Given the description of an element on the screen output the (x, y) to click on. 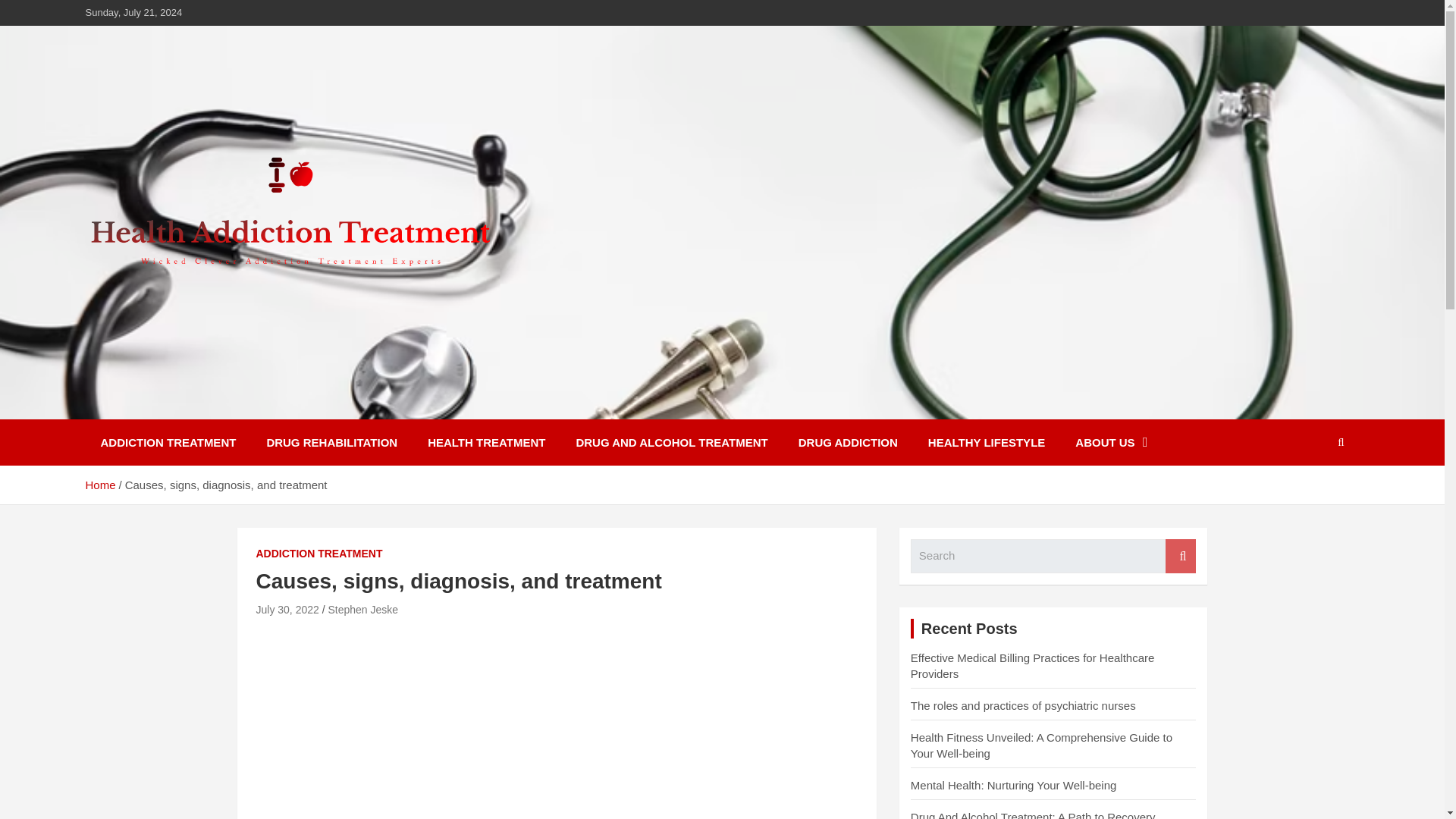
Home (99, 484)
ADDICTION TREATMENT (167, 442)
ADDICTION TREATMENT (319, 554)
HEALTH TREATMENT (486, 442)
HEALTHY LIFESTYLE (985, 442)
July 30, 2022 (287, 609)
Causes, signs, diagnosis, and treatment (287, 609)
DRUG AND ALCOHOL TREATMENT (671, 442)
Stephen Jeske (362, 609)
DRUG ADDICTION (847, 442)
ABOUT US (1110, 442)
Health Addiction Treatment (281, 408)
DRUG REHABILITATION (331, 442)
